Given the description of an element on the screen output the (x, y) to click on. 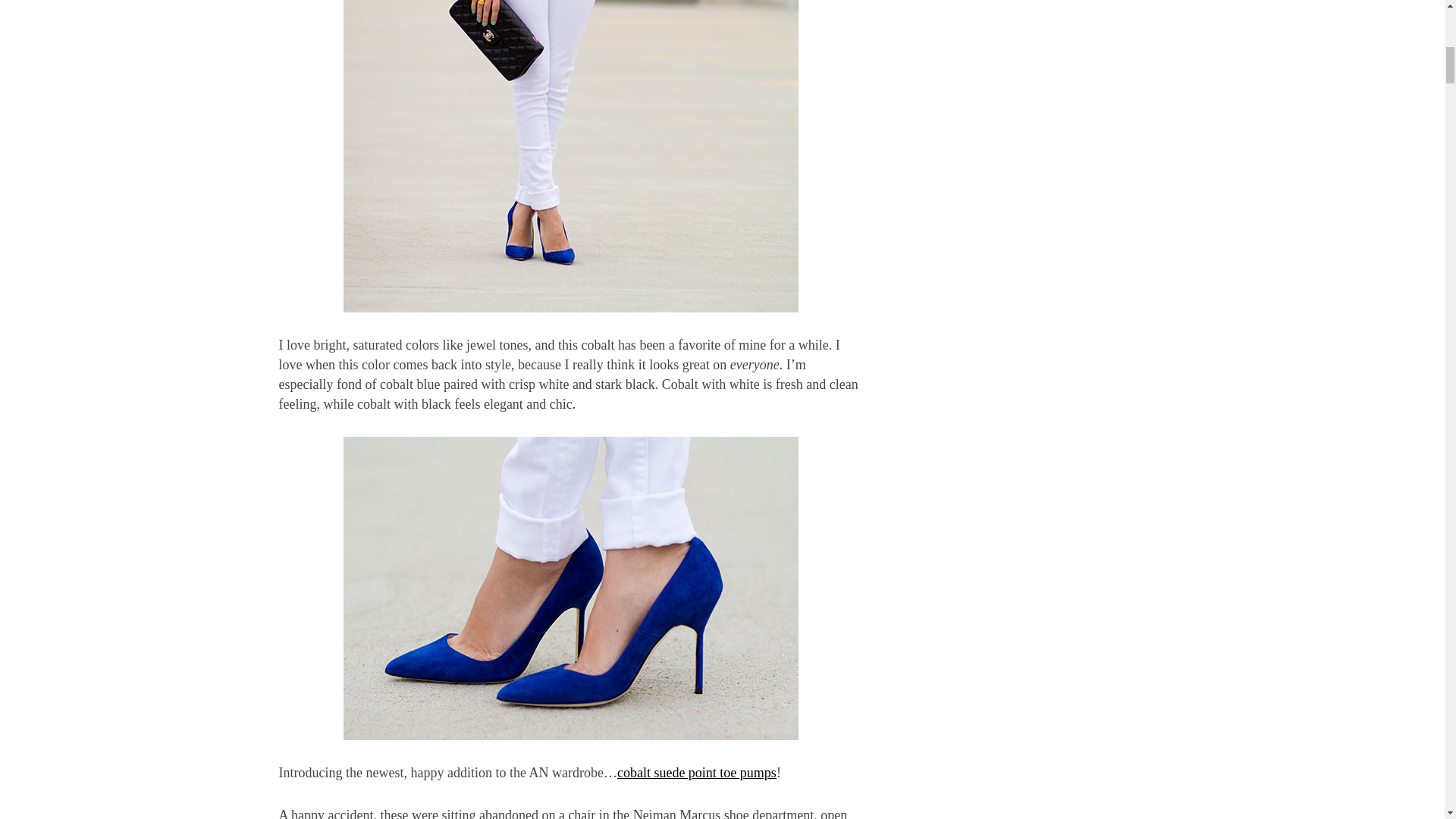
cobalt suede point toe pumps (696, 772)
